Given the description of an element on the screen output the (x, y) to click on. 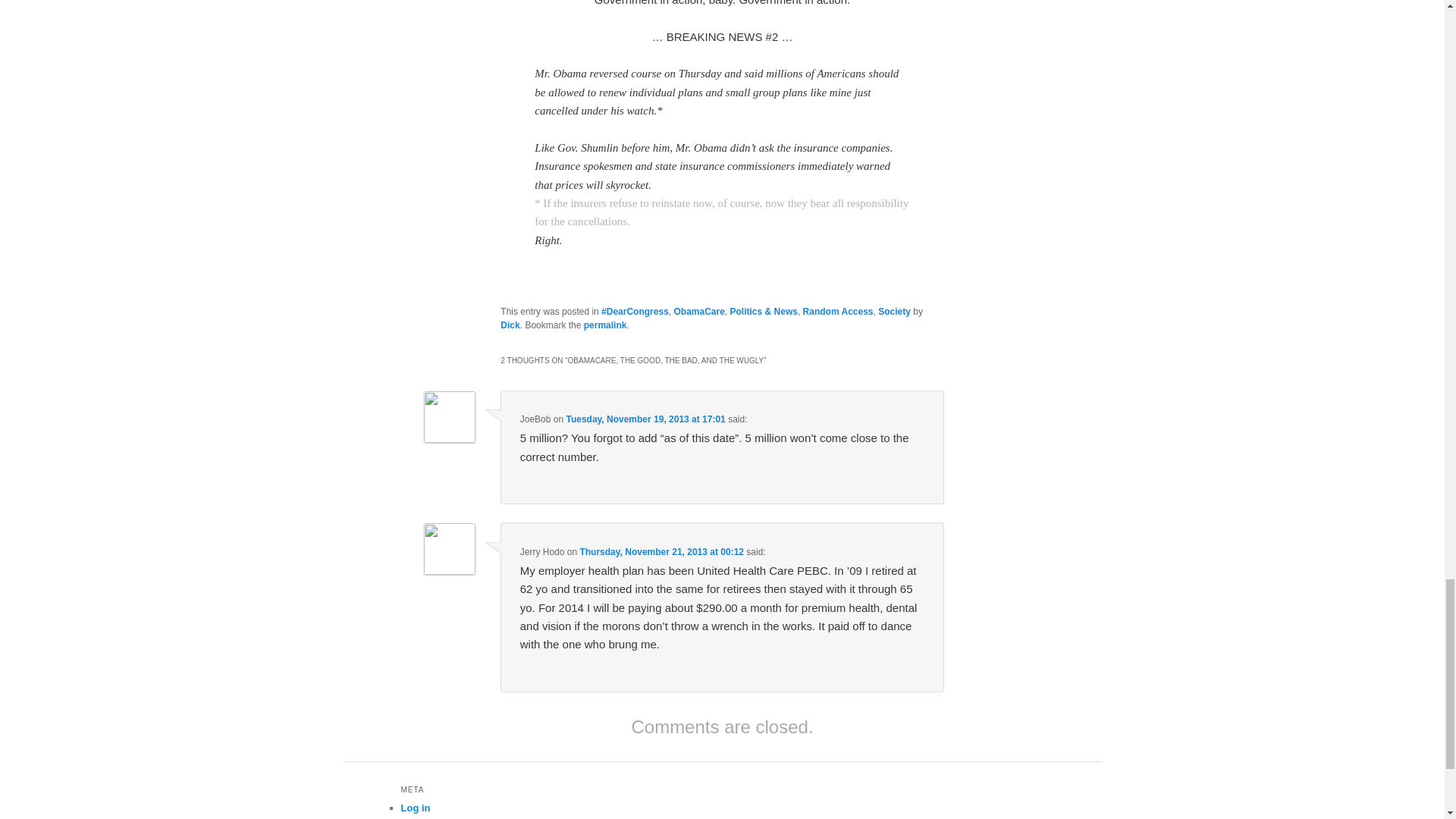
Tuesday, November 19, 2013 at 17:01 (645, 419)
Log in (414, 808)
ObamaCare (697, 311)
permalink (605, 325)
Permalink to Obamacare, the Good, the Bad, and the Wugly (605, 325)
Thursday, November 21, 2013 at 00:12 (661, 552)
Society (894, 311)
Dick (509, 325)
Random Access (838, 311)
Entries feed (428, 818)
